Given the description of an element on the screen output the (x, y) to click on. 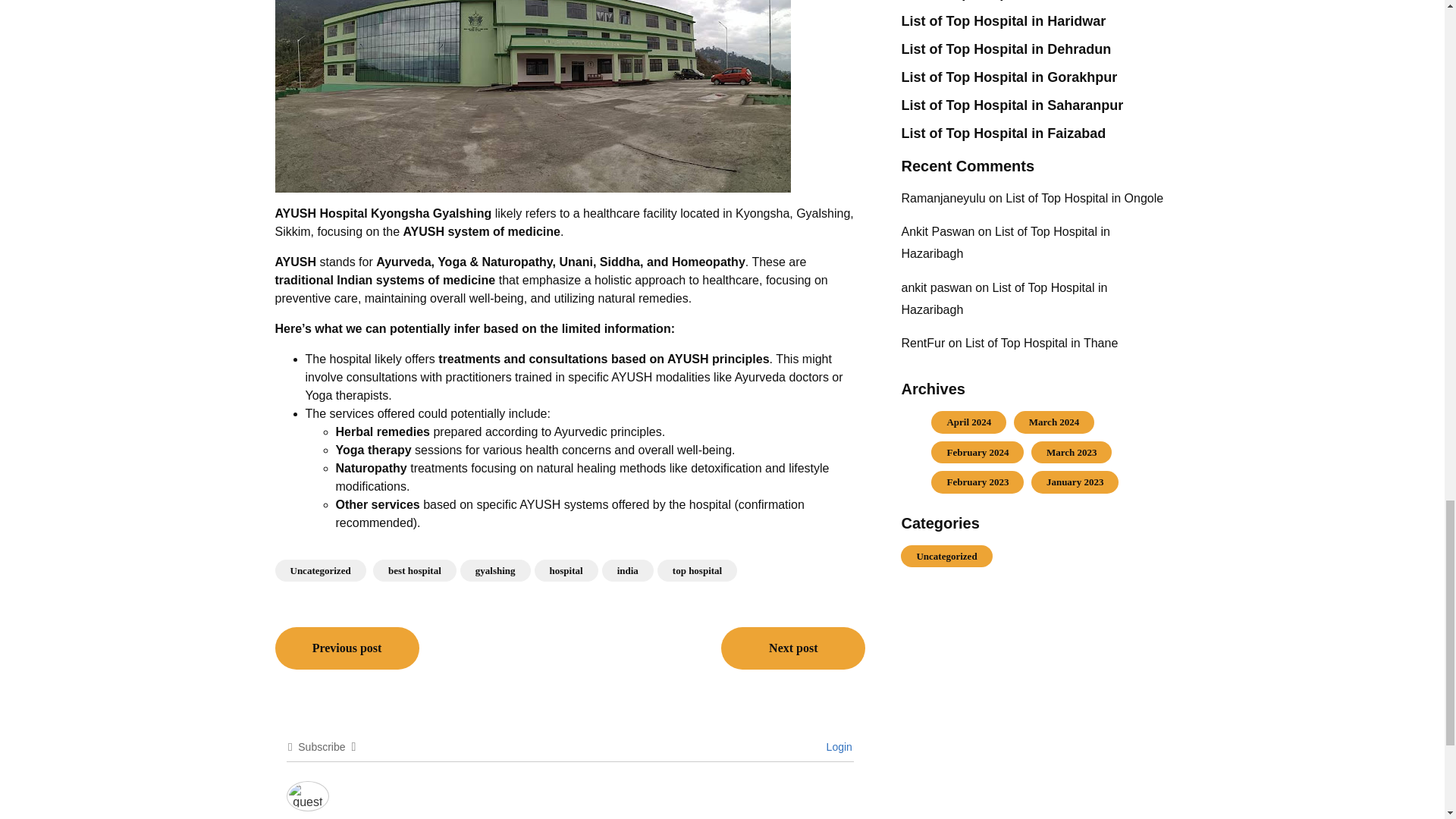
best hospital (414, 570)
top hospital (697, 570)
gyalshing (495, 570)
india (627, 570)
hospital (566, 570)
Uncategorized (320, 570)
Login (836, 746)
Next post (792, 648)
Previous post (347, 648)
